Given the description of an element on the screen output the (x, y) to click on. 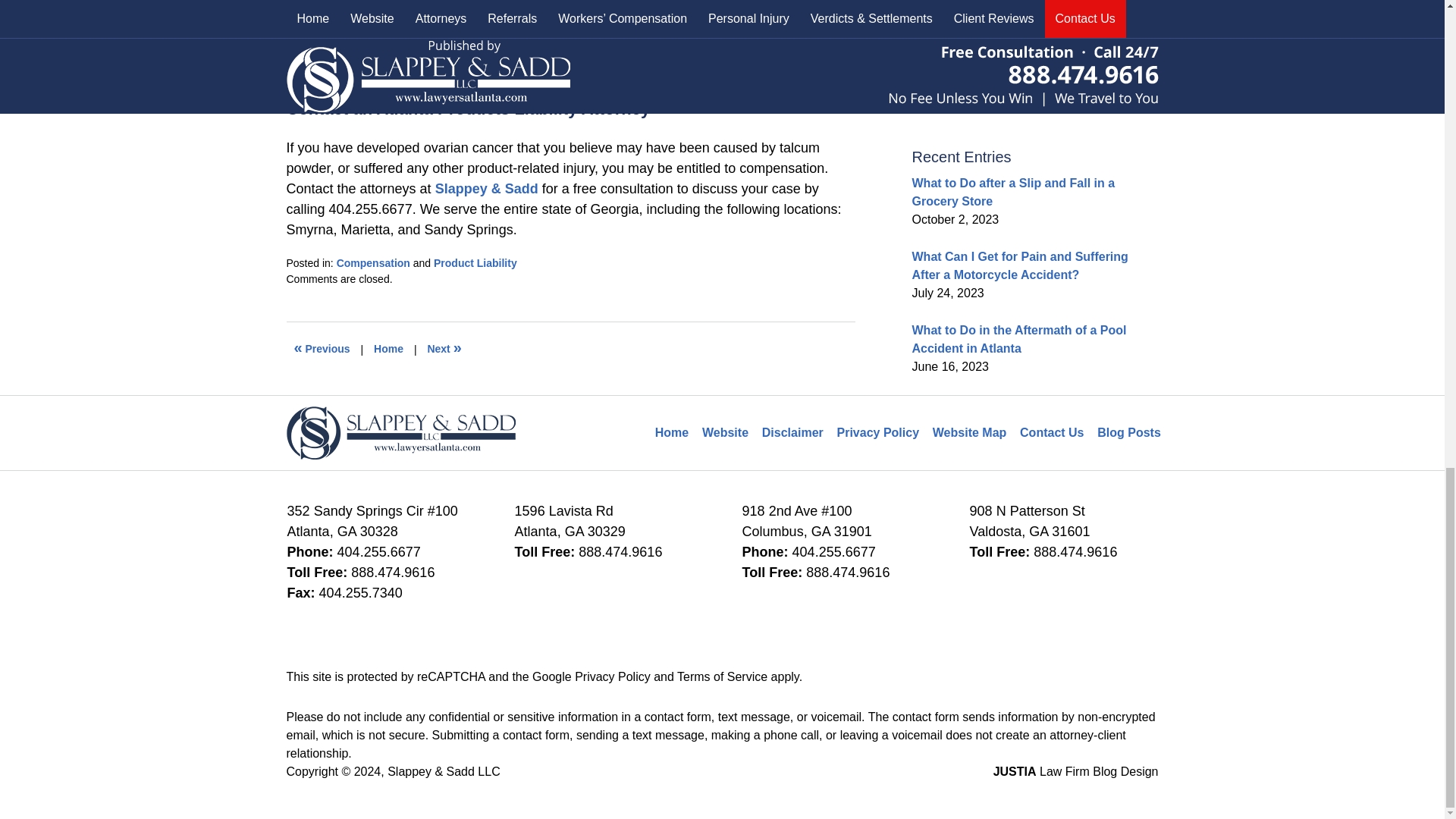
Have You Been Injured by a Dangerous Drug? (443, 349)
View all posts in Product Liability (474, 263)
Should I Use an Auto Insurance Tracking Device? (322, 349)
Product Liability (474, 263)
Home (388, 349)
View all posts in Compensation (373, 263)
Compensation (373, 263)
